Given the description of an element on the screen output the (x, y) to click on. 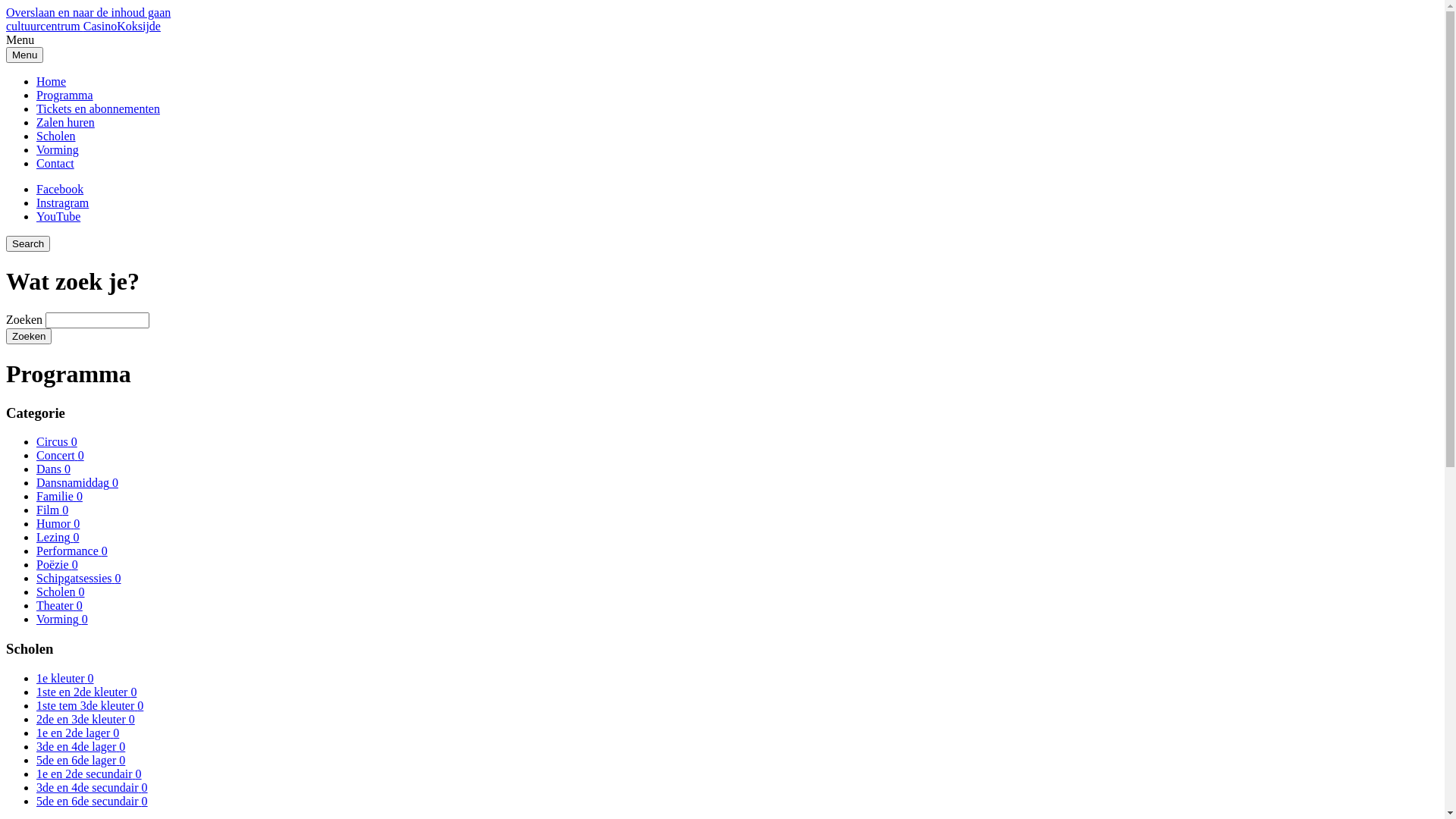
Geef de woorden op waarnaar u wilt zoeken. Element type: hover (97, 320)
3de en 4de lager 0 Element type: text (80, 746)
Vorming Element type: text (57, 149)
Contact Element type: text (55, 162)
2de en 3de kleuter 0 Element type: text (85, 718)
Home Element type: text (50, 81)
1e kleuter 0 Element type: text (65, 677)
Zalen huren Element type: text (65, 122)
YouTube Element type: text (58, 216)
Film 0 Element type: text (52, 509)
Schipgatsessies 0 Element type: text (78, 577)
Vorming 0 Element type: text (61, 618)
Performance 0 Element type: text (71, 550)
Tickets en abonnementen Element type: text (98, 108)
Zoeken Element type: text (28, 336)
Search Element type: text (28, 243)
1e en 2de lager 0 Element type: text (77, 732)
Concert 0 Element type: text (60, 454)
Programma Element type: text (64, 94)
Scholen 0 Element type: text (60, 591)
1ste tem 3de kleuter 0 Element type: text (89, 705)
5de en 6de secundair 0 Element type: text (91, 800)
Instragram Element type: text (62, 202)
Dansnamiddag 0 Element type: text (77, 482)
1e en 2de secundair 0 Element type: text (88, 773)
Facebook Element type: text (59, 188)
Lezing 0 Element type: text (57, 536)
Familie 0 Element type: text (59, 495)
Menu Element type: text (24, 54)
5de en 6de lager 0 Element type: text (80, 759)
Theater 0 Element type: text (59, 605)
Scholen Element type: text (55, 135)
cultuurcentrum CasinoKoksijde Element type: text (83, 25)
Overslaan en naar de inhoud gaan Element type: text (88, 12)
Dans 0 Element type: text (53, 468)
Circus 0 Element type: text (56, 441)
Humor 0 Element type: text (57, 523)
3de en 4de secundair 0 Element type: text (91, 787)
1ste en 2de kleuter 0 Element type: text (86, 691)
